Given the description of an element on the screen output the (x, y) to click on. 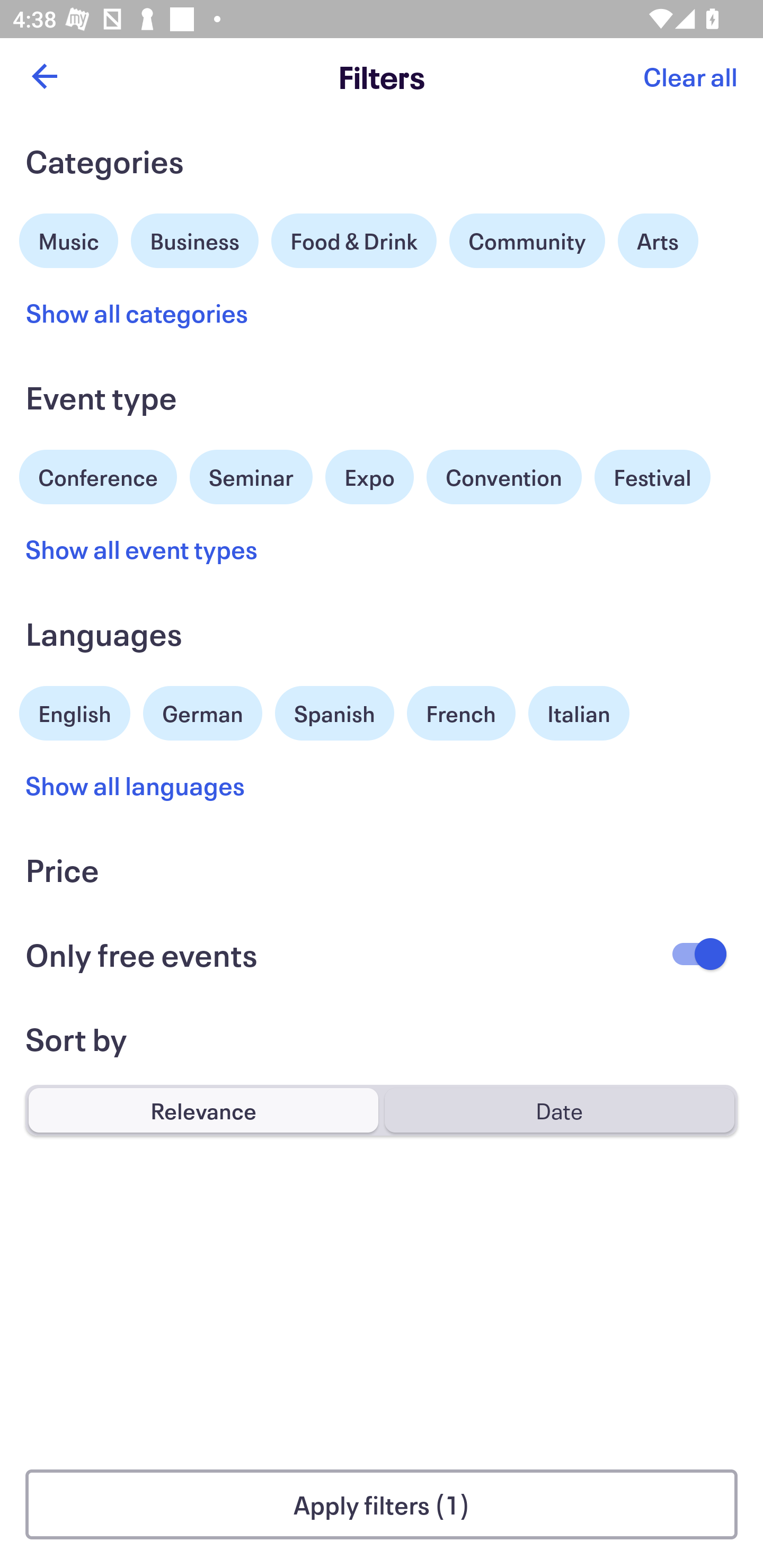
Back button (44, 75)
Clear all (690, 75)
Music (68, 238)
Business (194, 238)
Food & Drink (353, 240)
Community (527, 240)
Arts (658, 240)
Show all categories (136, 312)
Conference (98, 475)
Seminar (250, 477)
Expo (369, 477)
Convention (503, 477)
Festival (652, 477)
Show all event types (141, 548)
English (74, 710)
German (202, 710)
Spanish (334, 713)
French (460, 713)
Italian (578, 713)
Show all languages (135, 784)
Relevance (203, 1109)
Date (559, 1109)
Apply filters (1) (381, 1504)
